Given the description of an element on the screen output the (x, y) to click on. 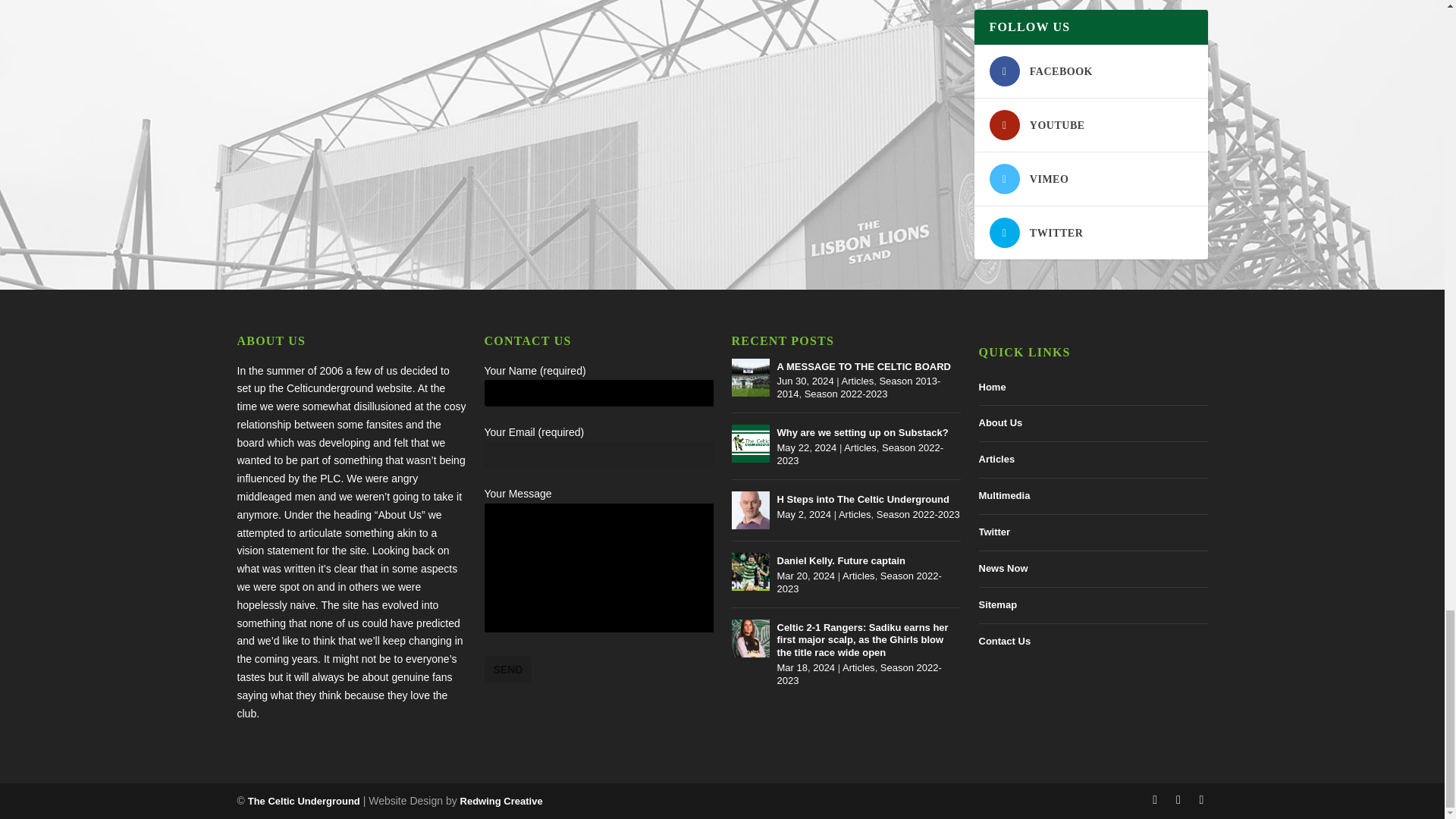
Send (507, 669)
